Given the description of an element on the screen output the (x, y) to click on. 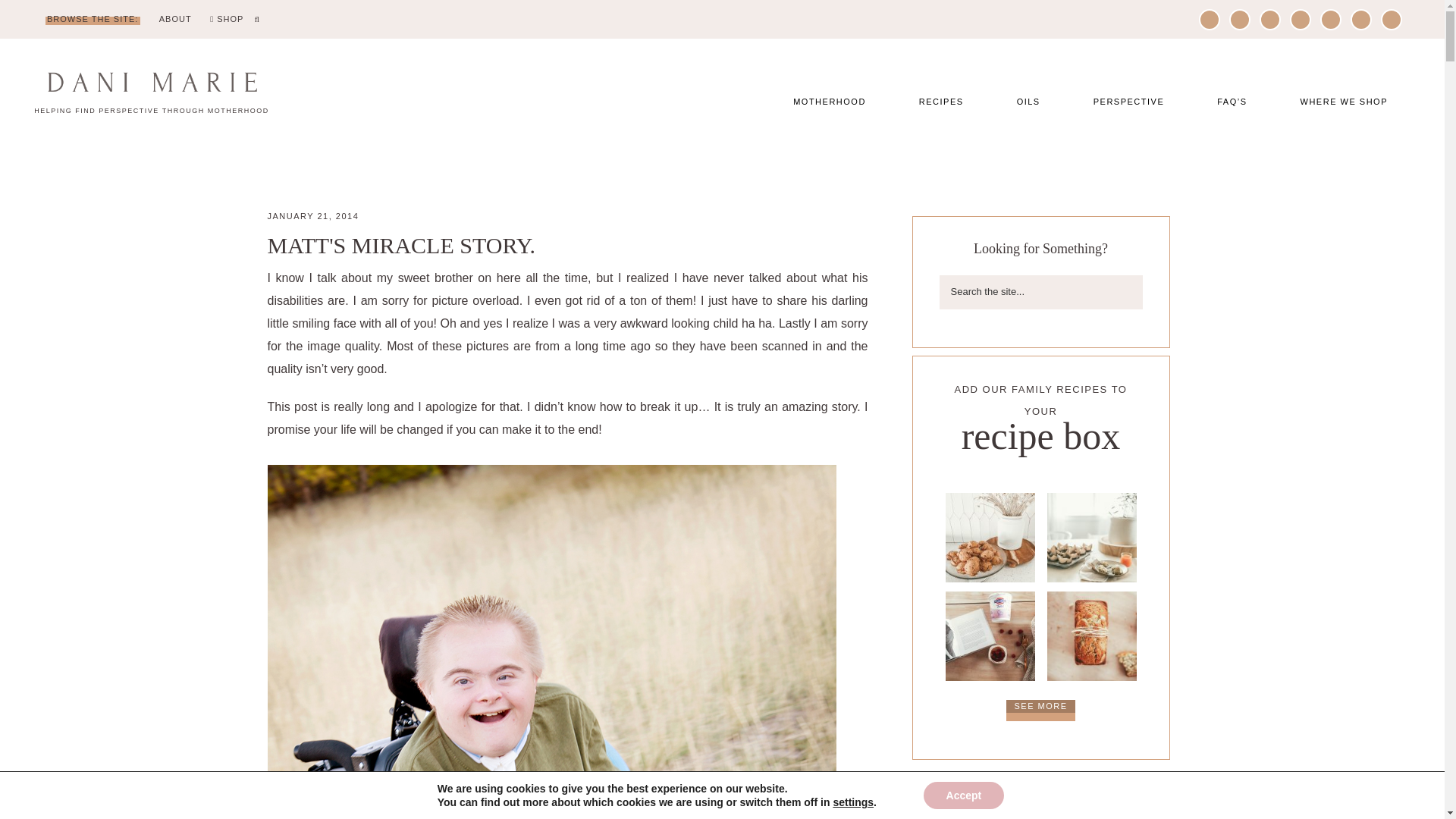
PERSPECTIVE (1128, 101)
Recipes (1040, 710)
BROWSE THE SITE: (92, 19)
ABOUT (175, 19)
WHERE WE SHOP (1344, 101)
SHOP (226, 19)
OILS (1028, 101)
RECIPES (941, 101)
MOTHERHOOD (828, 101)
